Given the description of an element on the screen output the (x, y) to click on. 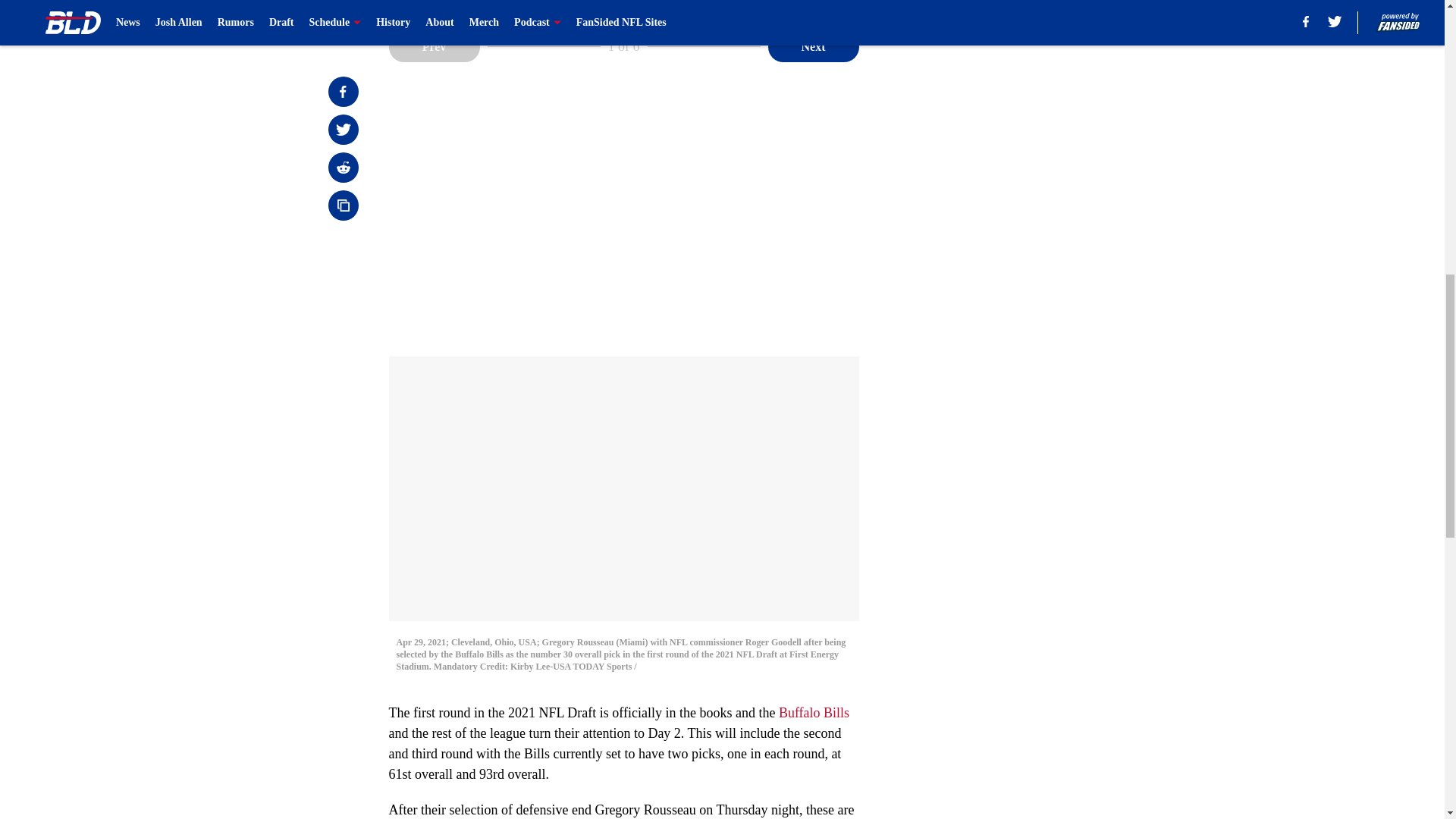
Prev (433, 46)
Buffalo Bills (813, 712)
Next (813, 46)
